Given the description of an element on the screen output the (x, y) to click on. 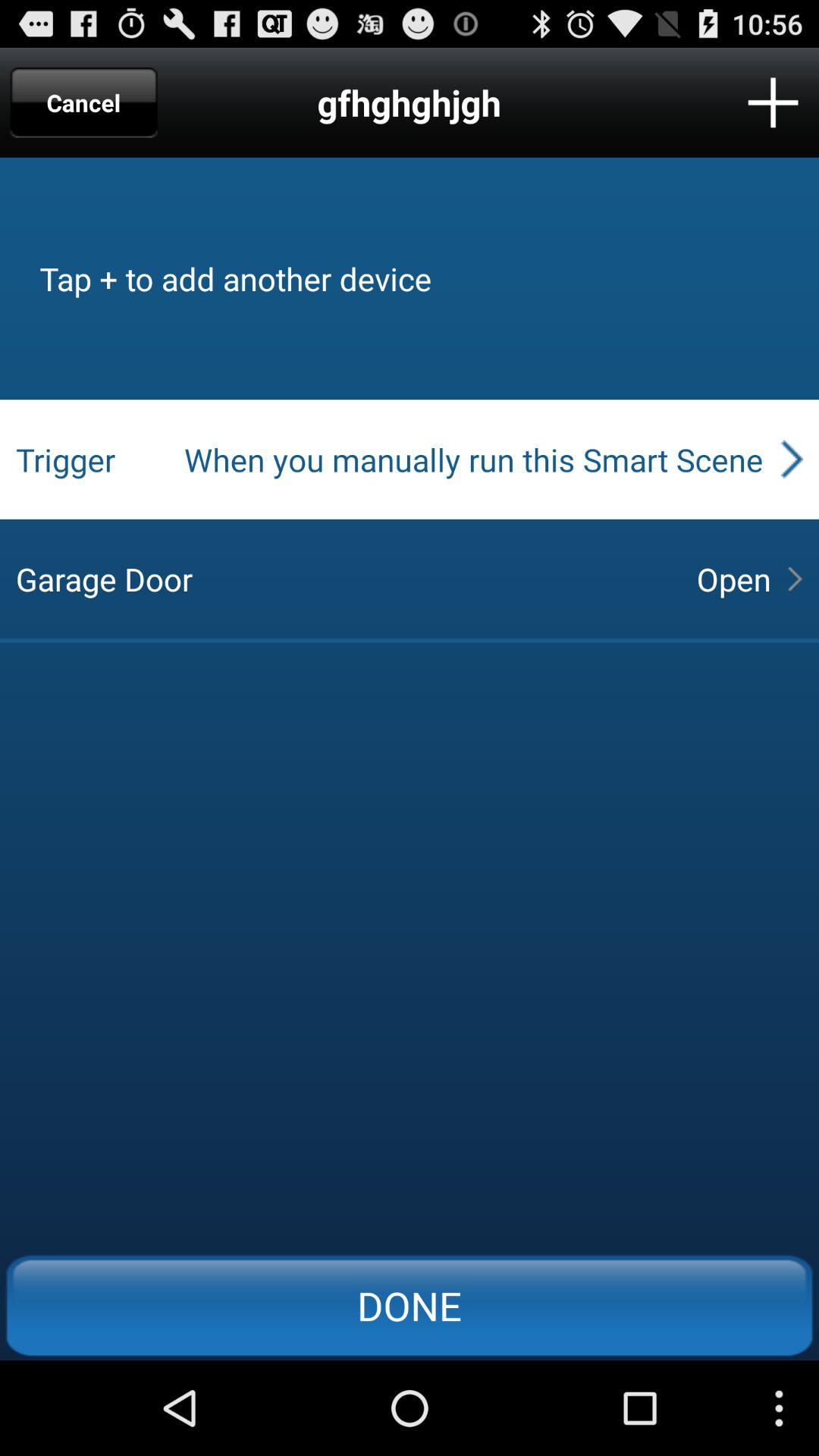
click to add new (773, 102)
